Given the description of an element on the screen output the (x, y) to click on. 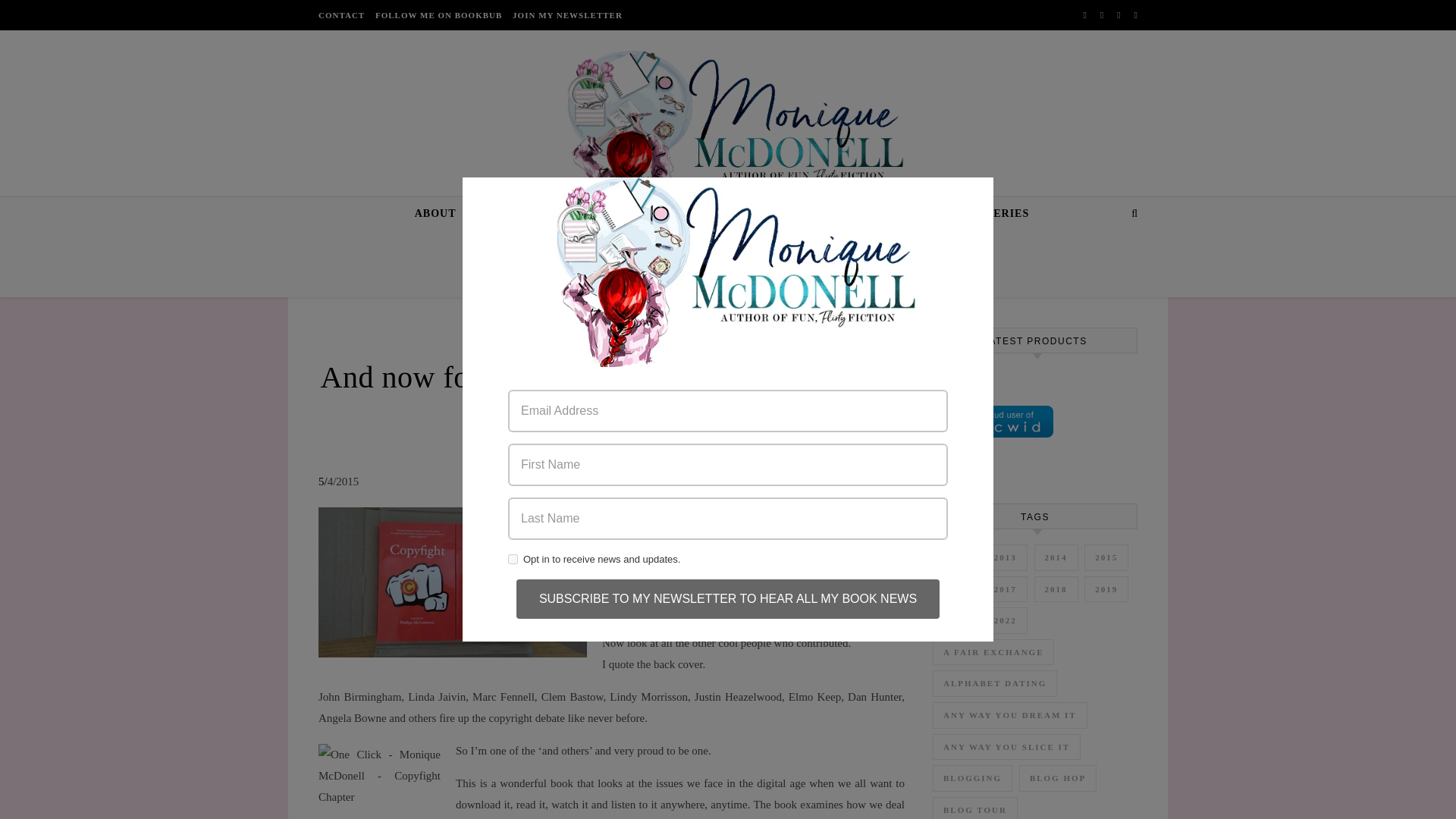
BLOG (499, 213)
THE UPPER CRUST SERIES (756, 213)
Monique McDonell Author (727, 134)
FOLLOW ME ON BOOKBUB (438, 15)
BLOG AND WEBSITE CONTRIBUTIONS (786, 246)
THE JEWEL SISTERS SERIES (946, 213)
CONTACT (953, 246)
BOOKS (565, 213)
THE MARLIN SHORES SERIES (560, 246)
JOIN MY NEWSLETTER (565, 15)
BLOG (611, 350)
CONTACT (343, 15)
ABOUT (441, 213)
STORE (631, 213)
